Given the description of an element on the screen output the (x, y) to click on. 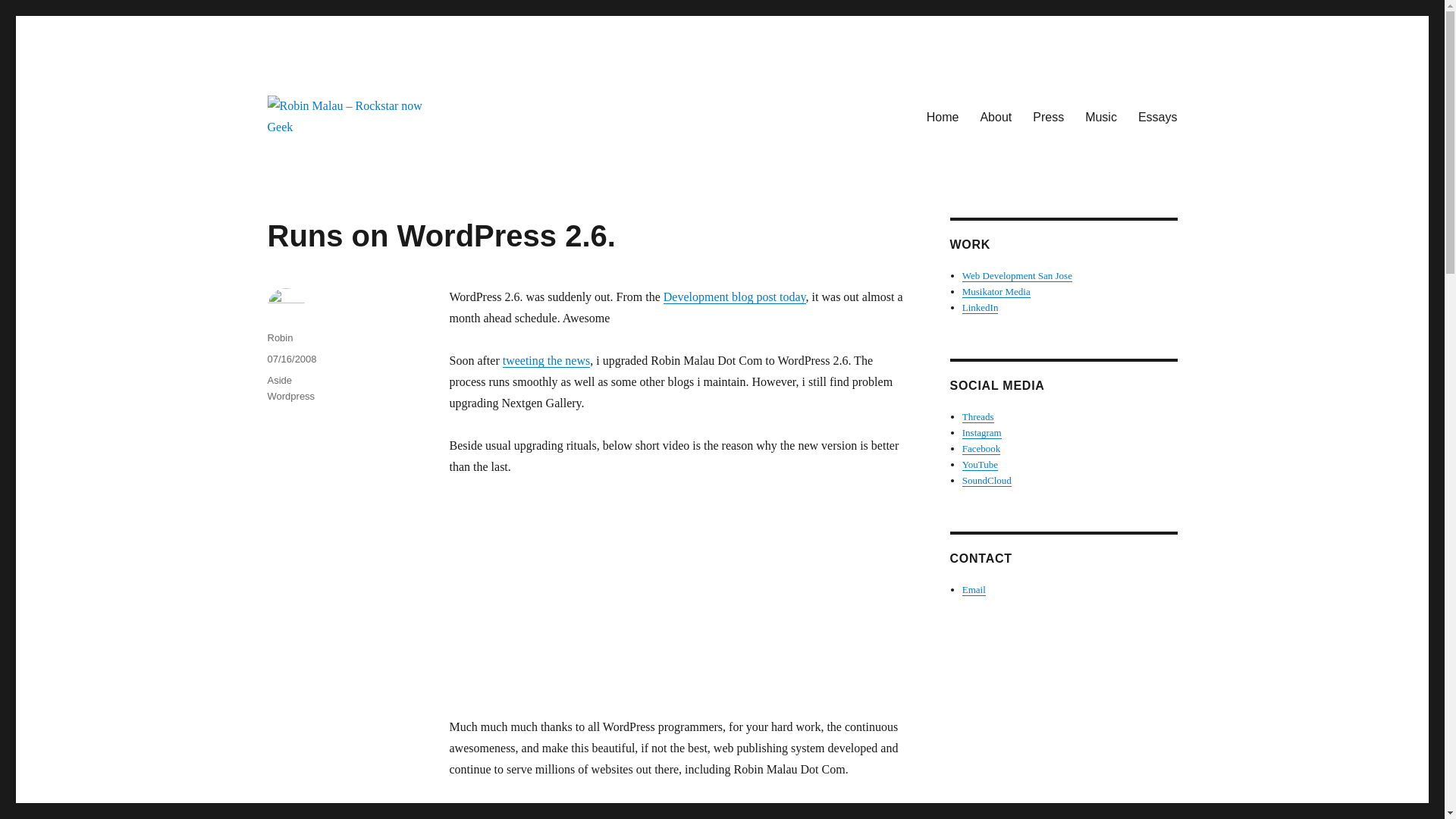
Press (1048, 116)
YouTube (979, 464)
Music (1100, 116)
Facebook (981, 448)
Essays (1157, 116)
Wordpress (290, 396)
About (995, 116)
Email (973, 589)
Web Development San Jose (1016, 275)
here (684, 811)
